Given the description of an element on the screen output the (x, y) to click on. 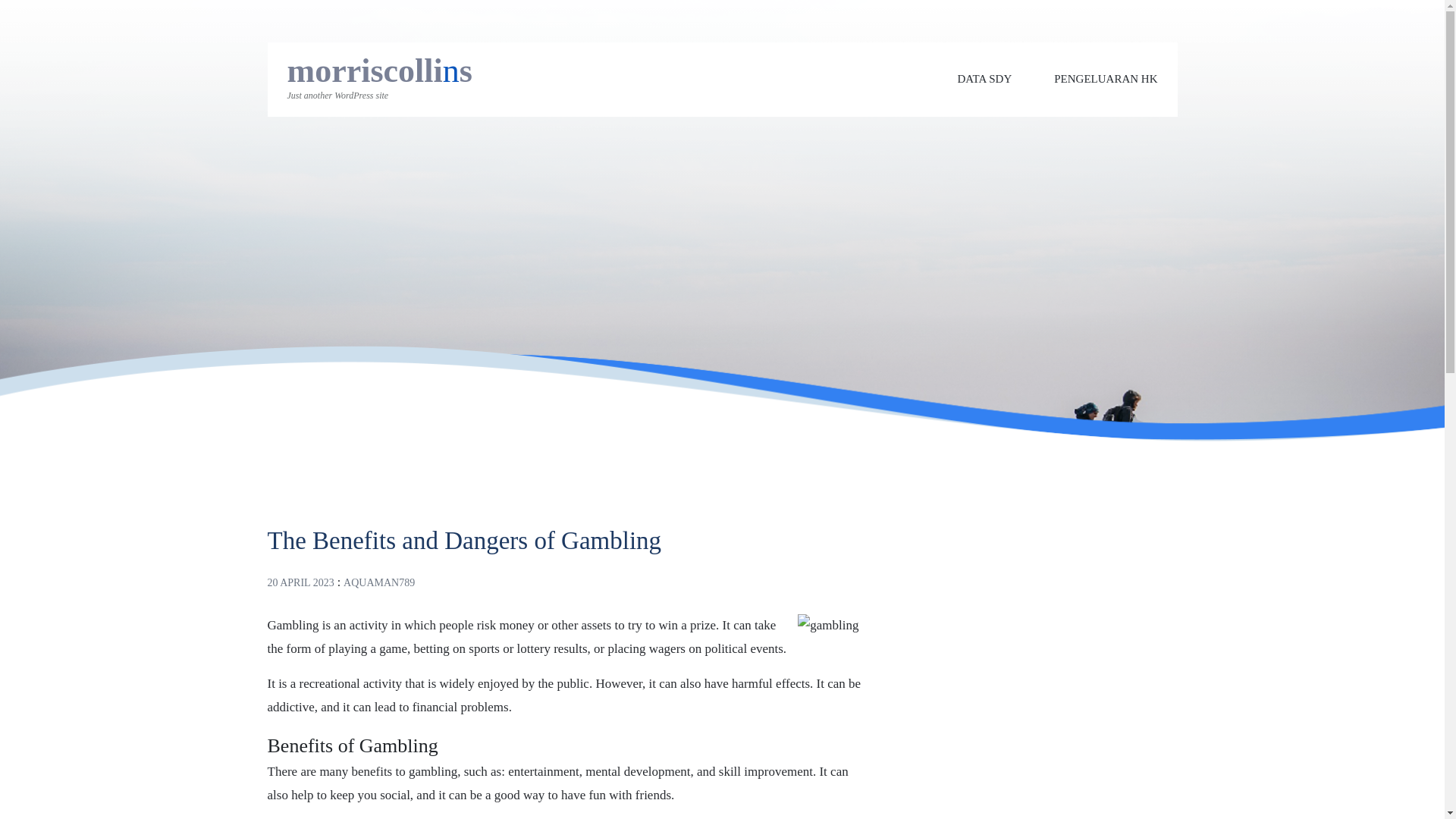
DATA SDY (984, 78)
PENGELUARAN HK (1105, 78)
AQUAMAN789 (378, 582)
20 APRIL 2023 (299, 582)
morriscollins (378, 70)
